Given the description of an element on the screen output the (x, y) to click on. 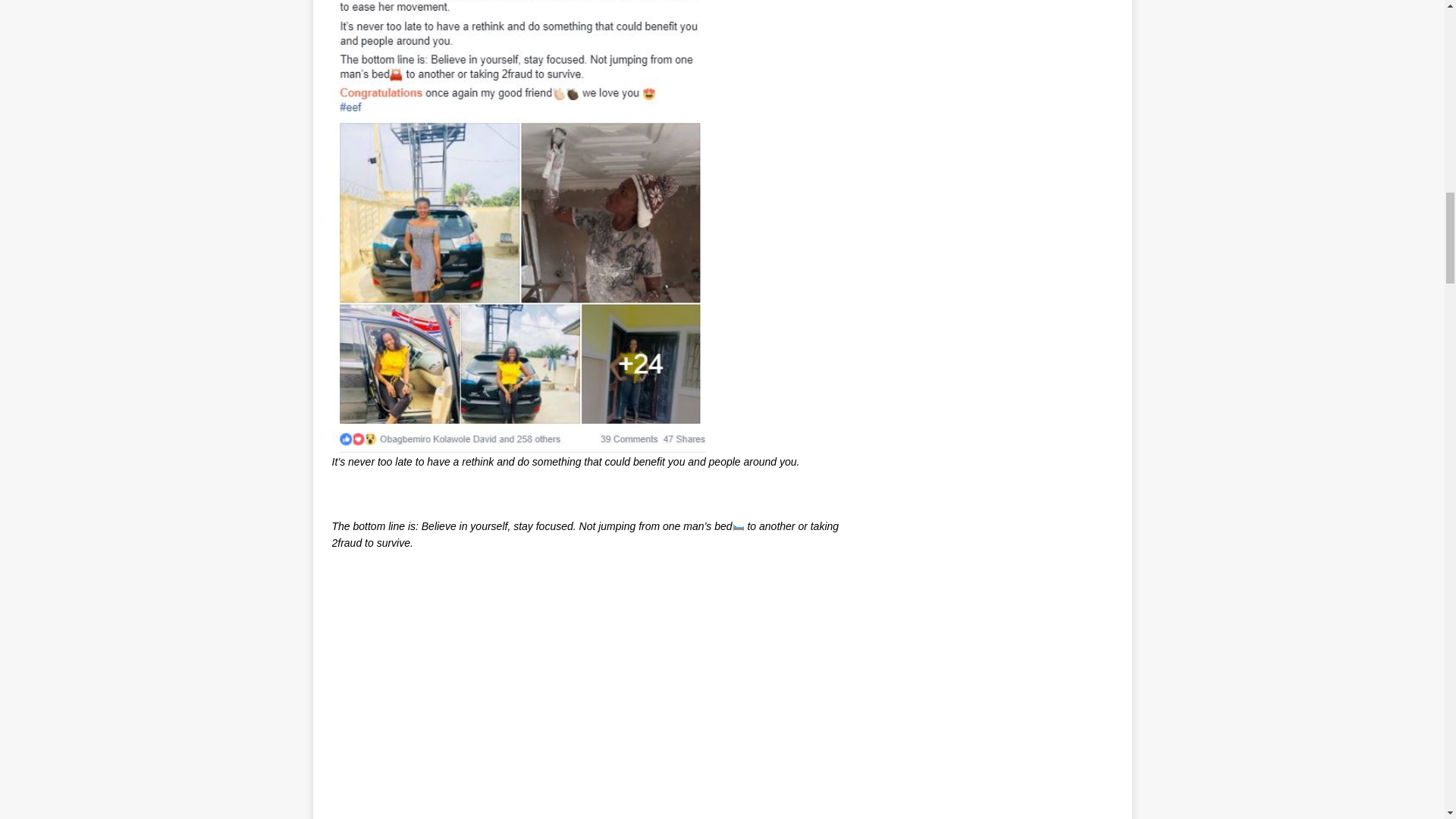
Advertisement (588, 704)
